Given the description of an element on the screen output the (x, y) to click on. 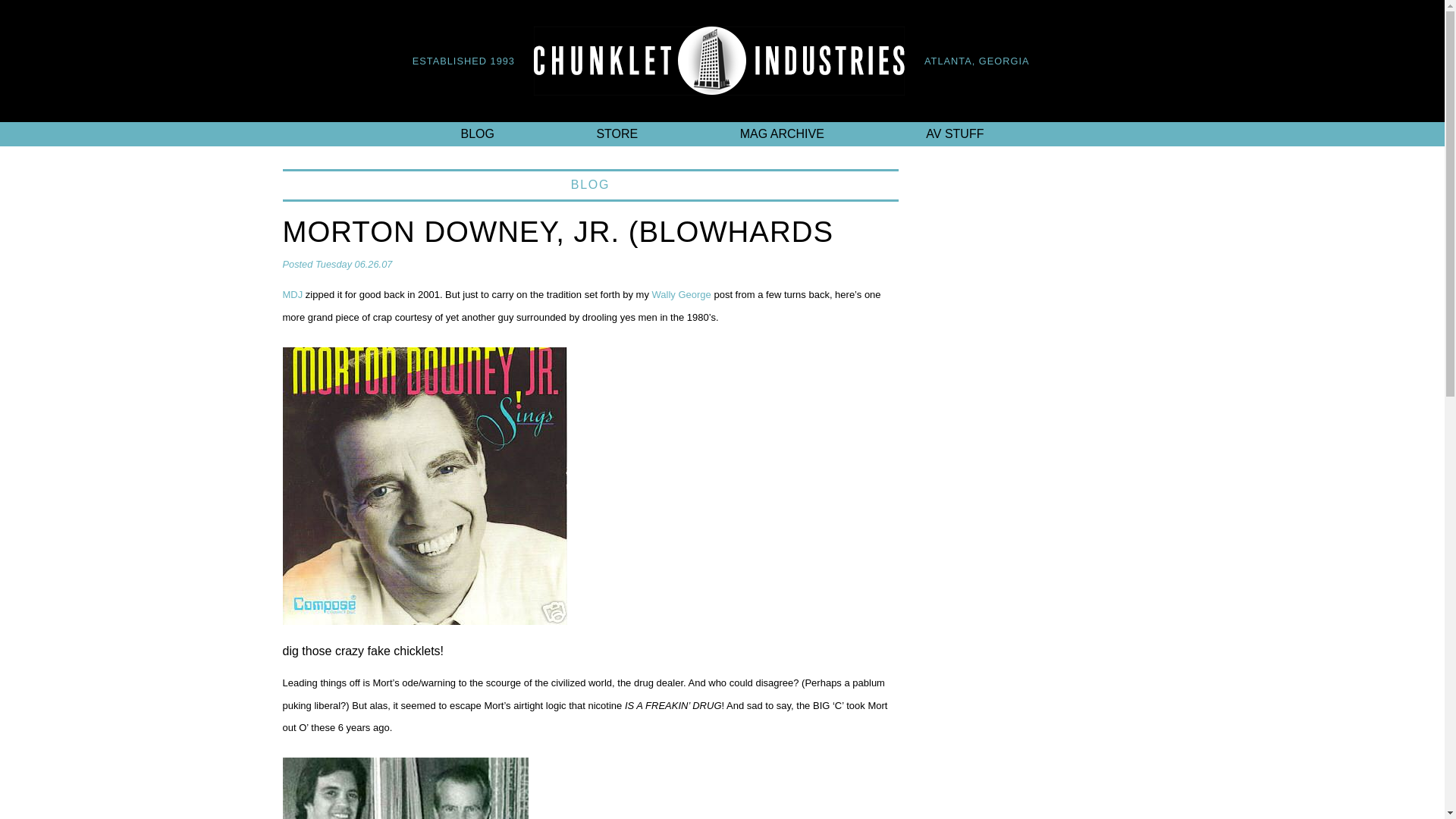
AV STUFF (954, 133)
Wally George (681, 294)
MAG ARCHIVE (781, 133)
BLOG (477, 133)
MDJ (292, 294)
STORE (617, 133)
